Given the description of an element on the screen output the (x, y) to click on. 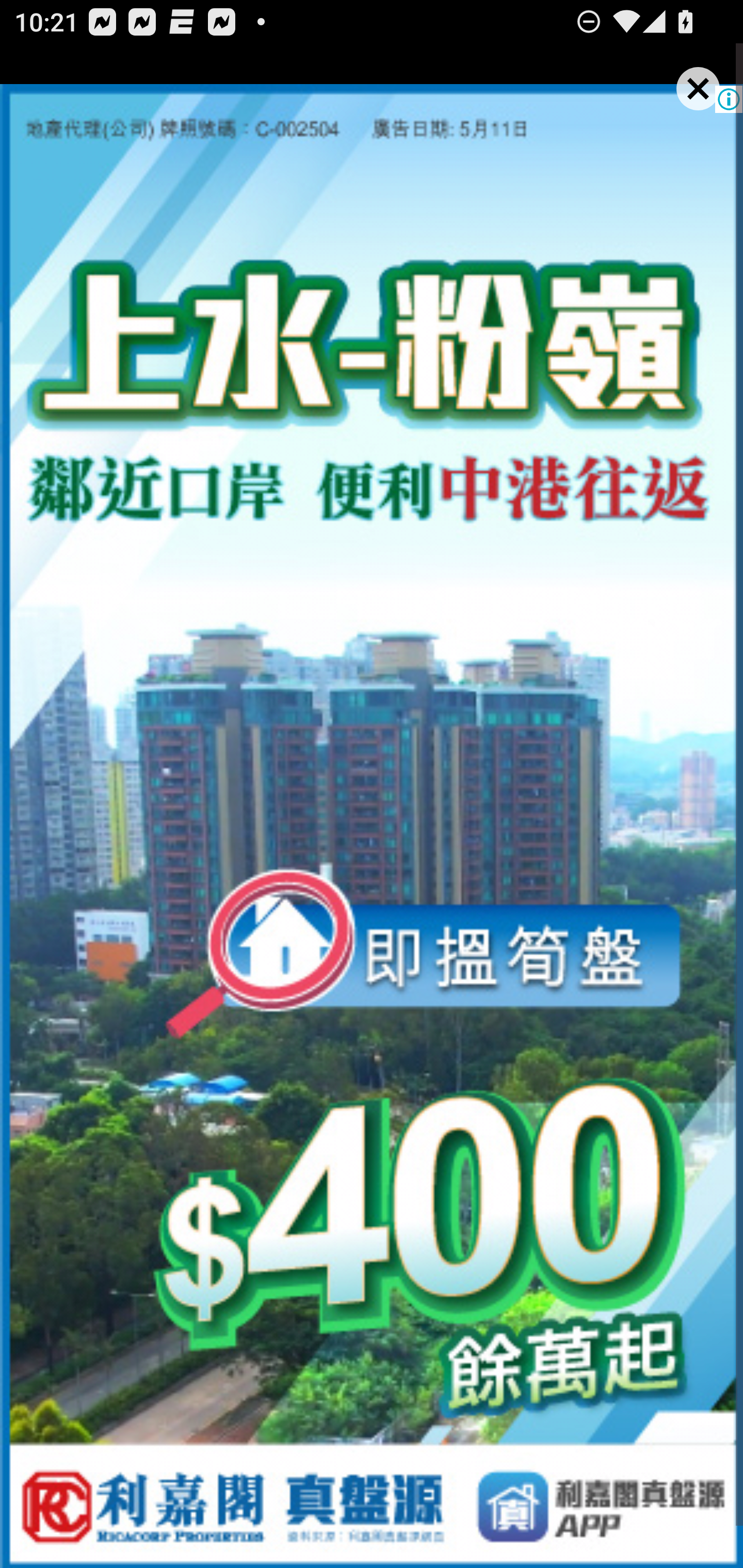
Interstitial close button (707, 106)
